Given the description of an element on the screen output the (x, y) to click on. 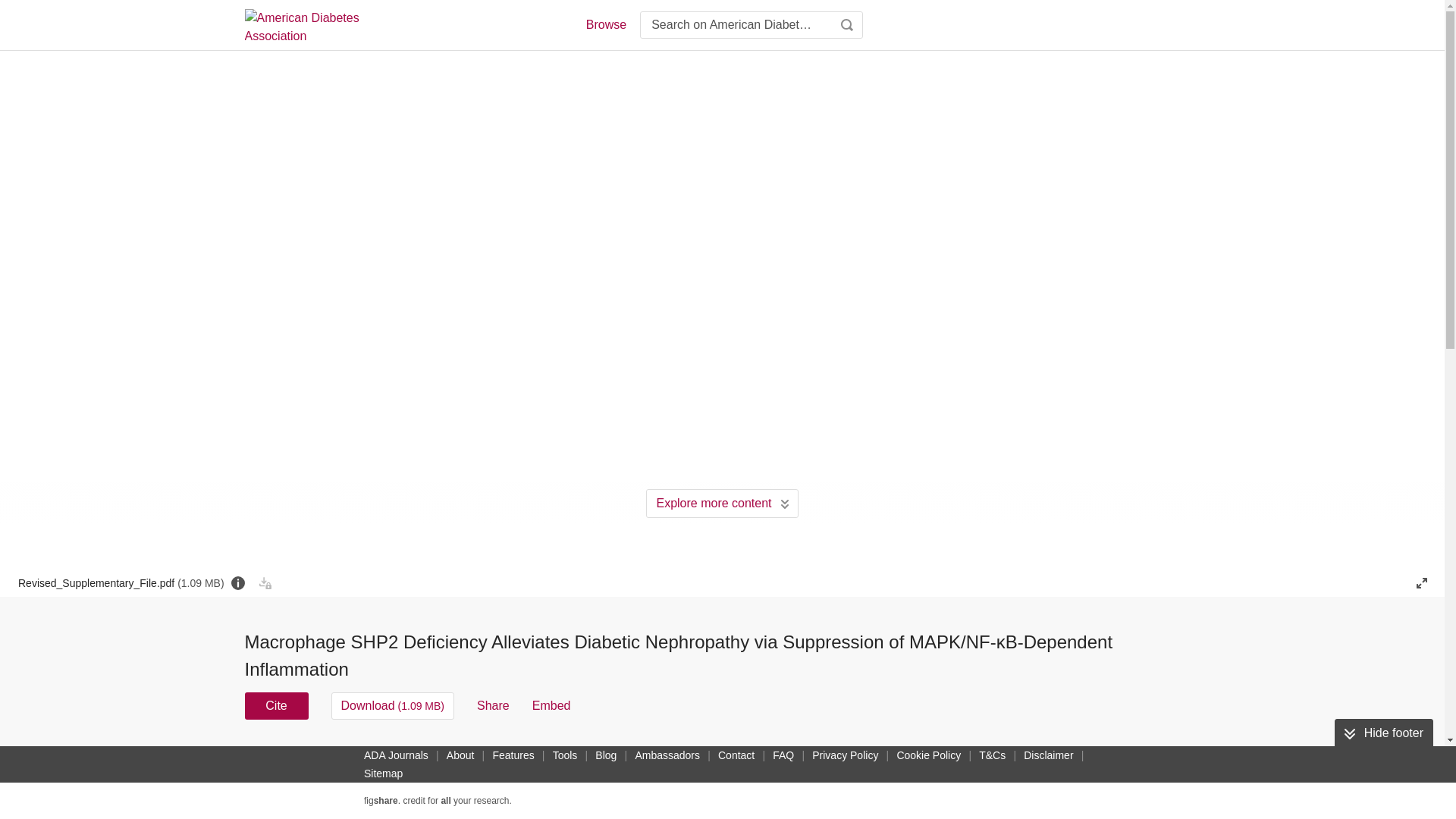
Cite (275, 705)
Share (493, 705)
Features (512, 755)
Hide footer (1383, 733)
USAGE METRICS (976, 759)
Embed (551, 705)
ADA Journals (395, 755)
Explore more content (721, 502)
Tools (565, 755)
About (460, 755)
Browse (605, 24)
